Given the description of an element on the screen output the (x, y) to click on. 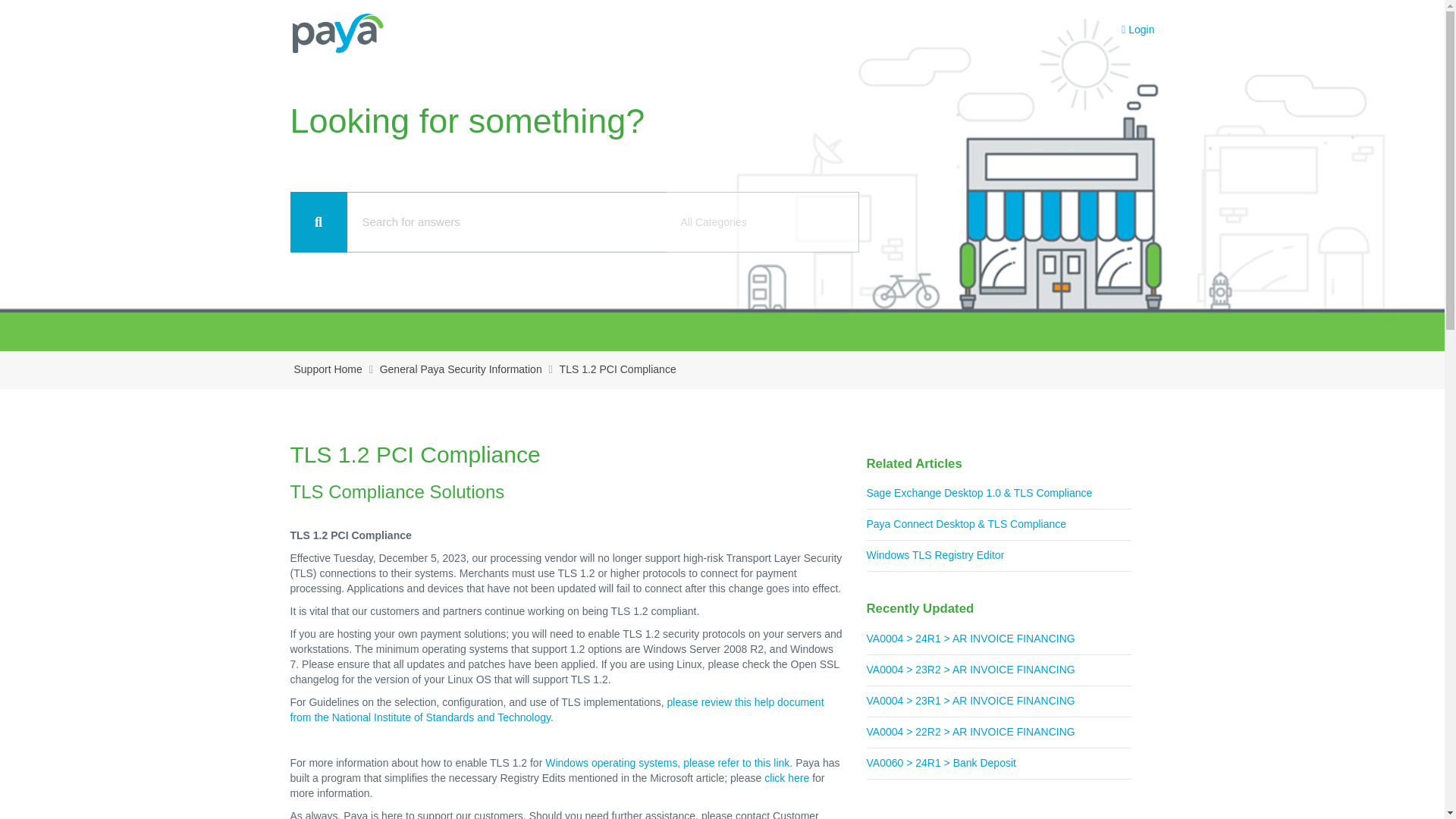
Windows operating systems, please refer to this link. (668, 762)
Login (1137, 29)
click here (786, 777)
Support Home (328, 369)
TLS 1.2 PCI Compliance (618, 369)
General Paya Security Information (460, 369)
Windows TLS Registry Editor (998, 555)
